Given the description of an element on the screen output the (x, y) to click on. 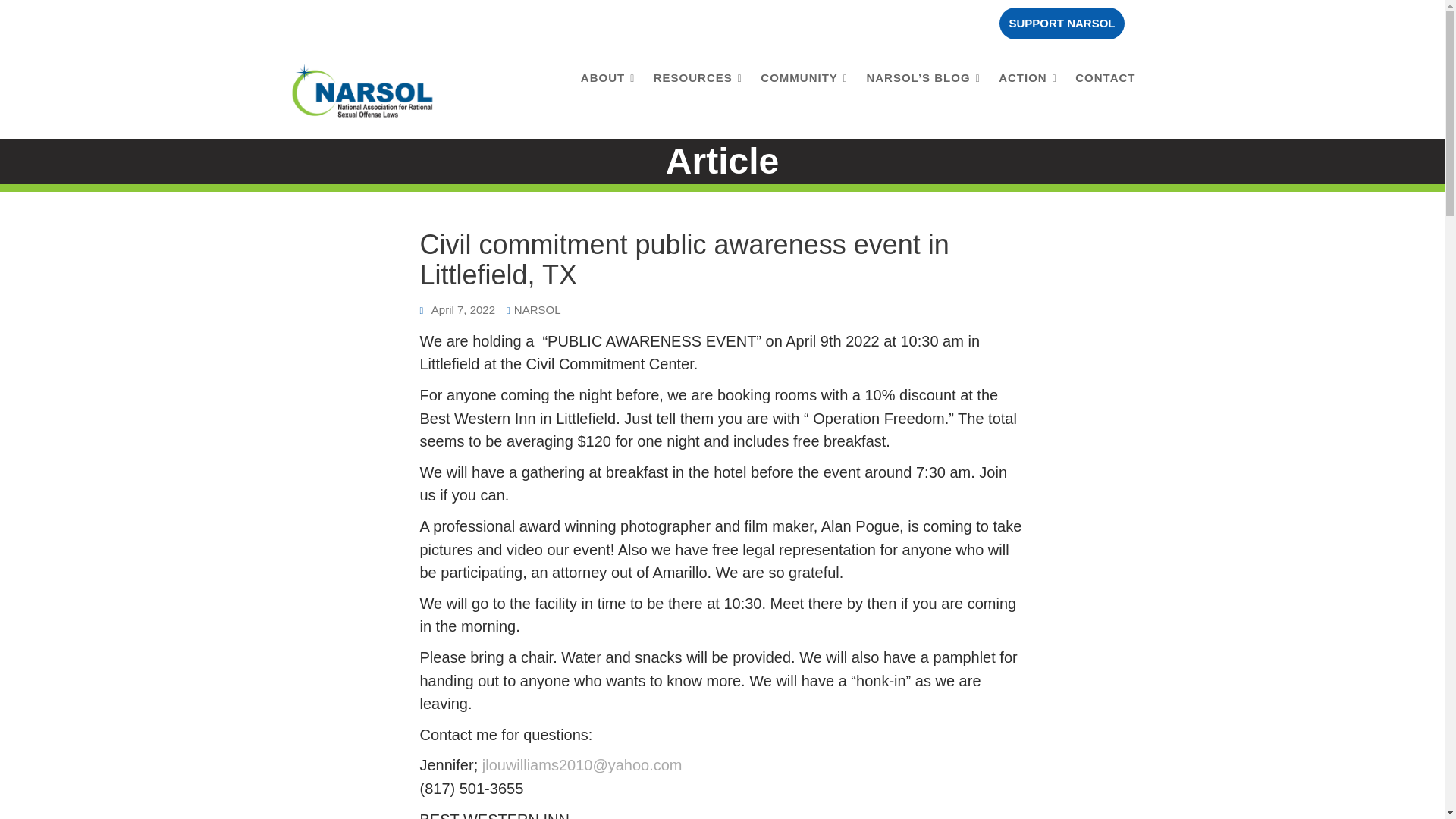
COMMUNITY (804, 77)
ABOUT (607, 77)
RESOURCES (697, 77)
SUPPORT NARSOL (1061, 23)
